Given the description of an element on the screen output the (x, y) to click on. 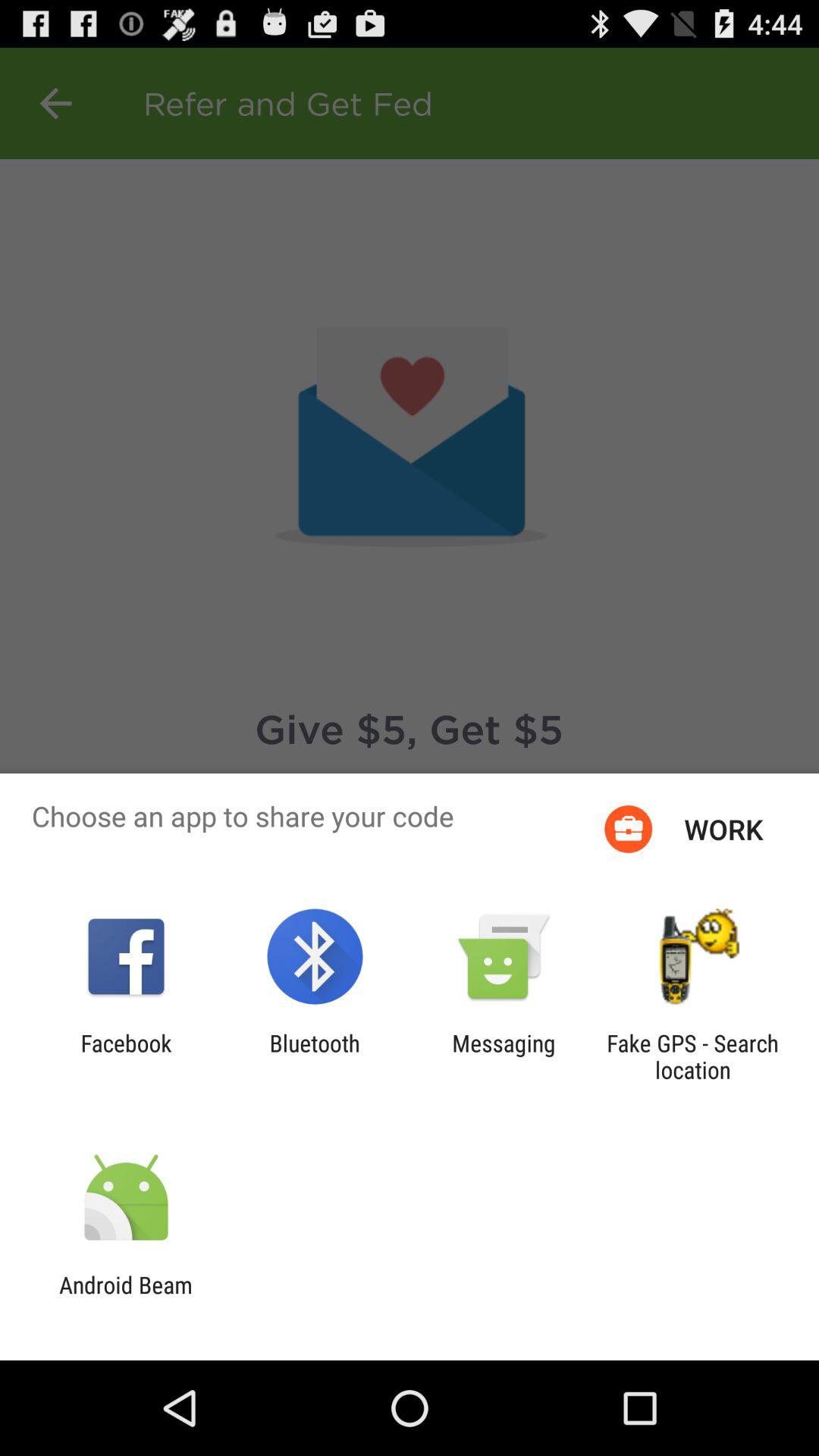
turn off android beam (125, 1298)
